Given the description of an element on the screen output the (x, y) to click on. 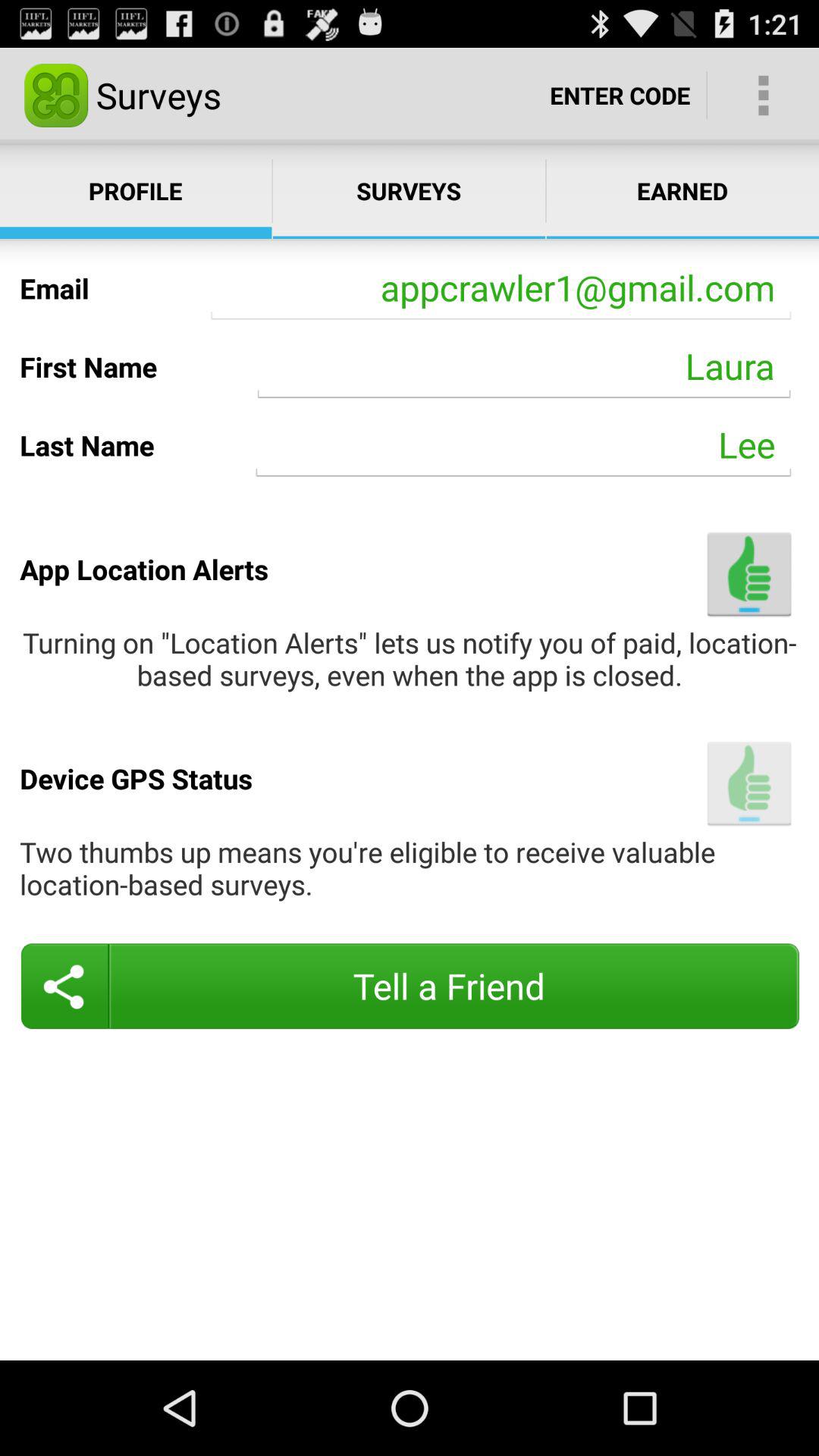
jump until the enter code icon (620, 95)
